Given the description of an element on the screen output the (x, y) to click on. 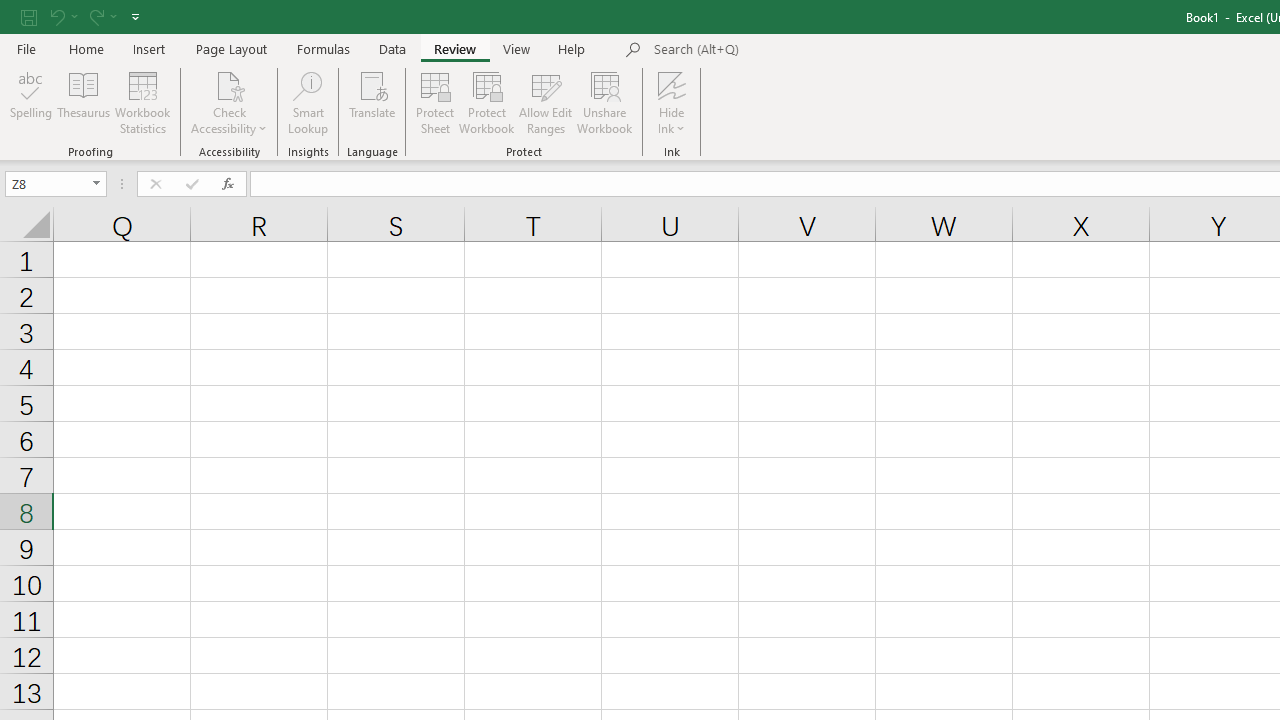
Undo (62, 15)
Formulas (323, 48)
System (10, 11)
Data (392, 48)
More Options (671, 121)
Translate (372, 102)
Customize Quick Access Toolbar (135, 15)
Smart Lookup (308, 102)
Undo (56, 15)
View (517, 48)
Quick Access Toolbar (82, 16)
Page Layout (230, 48)
Check Accessibility (229, 102)
Insert (149, 48)
Protect Sheet... (434, 102)
